Given the description of an element on the screen output the (x, y) to click on. 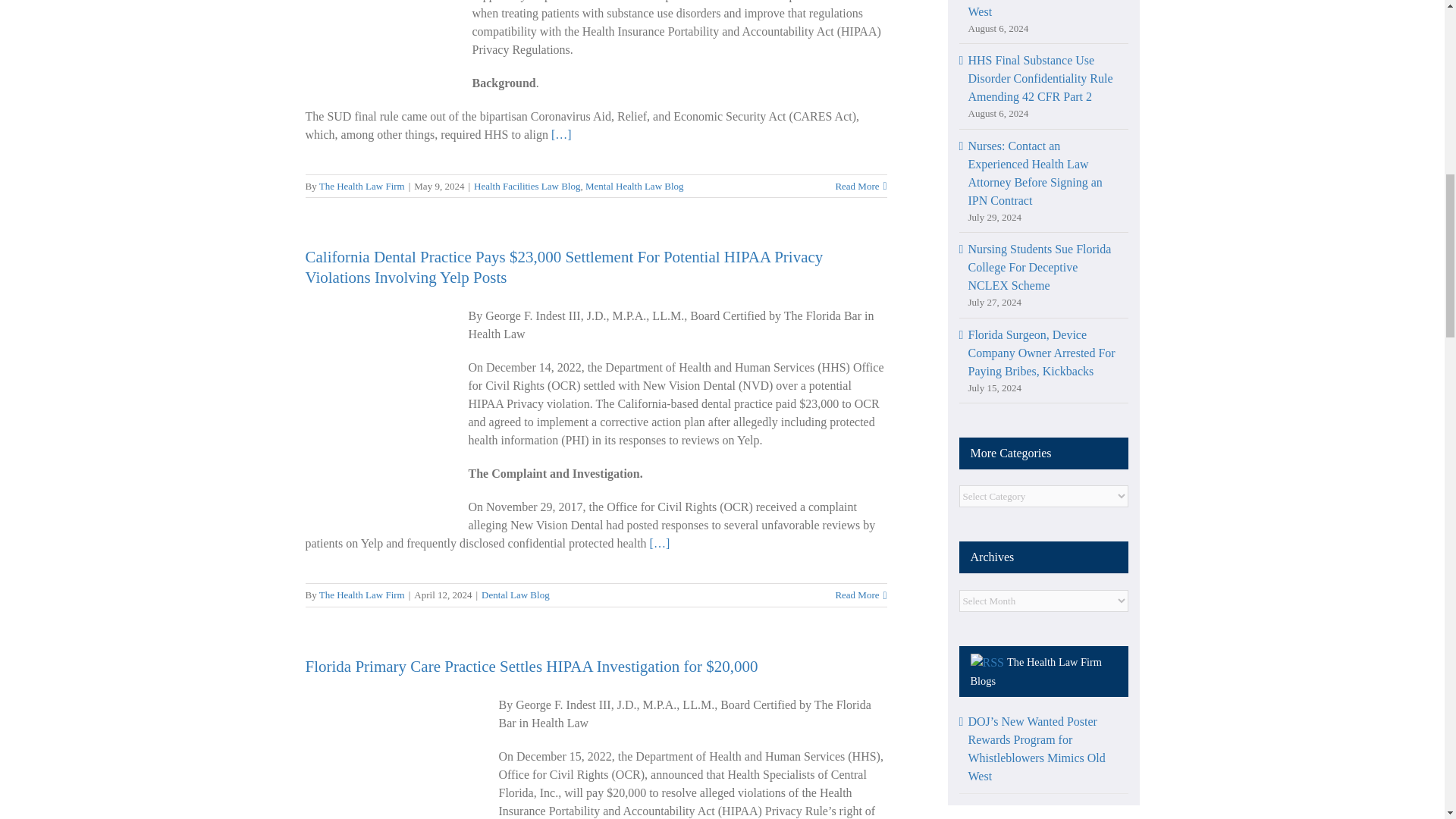
The Health Law Firm (361, 594)
Health Facilities Law Blog (526, 185)
Posts by The Health Law Firm (361, 594)
Dental Law Blog (515, 594)
Posts by The Health Law Firm (361, 185)
Mental Health Law Blog (634, 185)
Read More (856, 186)
The Health Law Firm (361, 185)
Read More (856, 595)
